Given the description of an element on the screen output the (x, y) to click on. 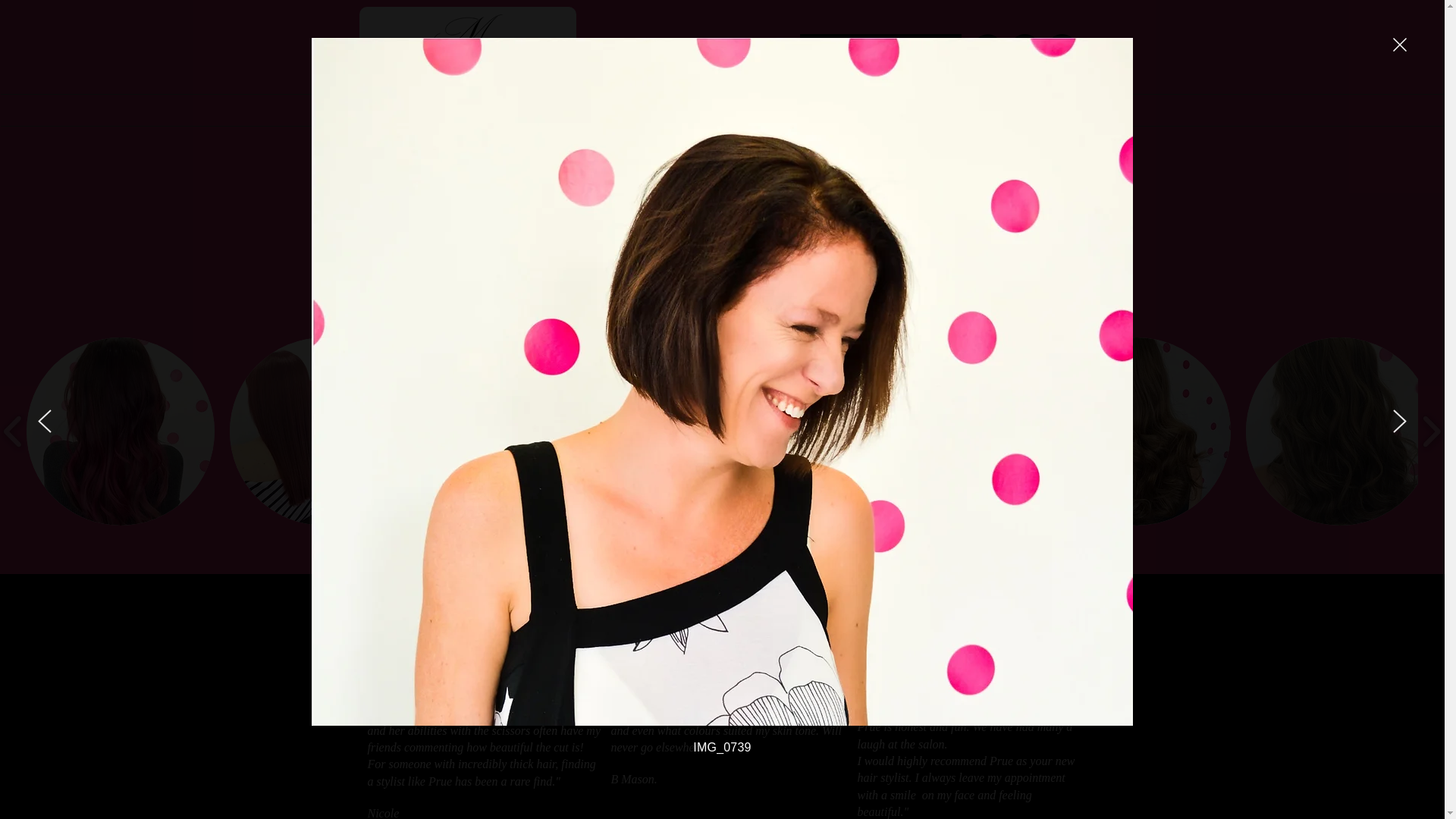
SERVICES & PRICING Element type: text (619, 110)
logo_transparent_background.png Element type: hover (467, 46)
Book an Appointment Element type: text (879, 48)
CONTACT US Element type: text (873, 110)
ABOUT Element type: text (487, 110)
GALLERY Element type: text (757, 110)
HOME Element type: text (394, 110)
MEMBERS FORUM Element type: text (1015, 110)
